Given the description of an element on the screen output the (x, y) to click on. 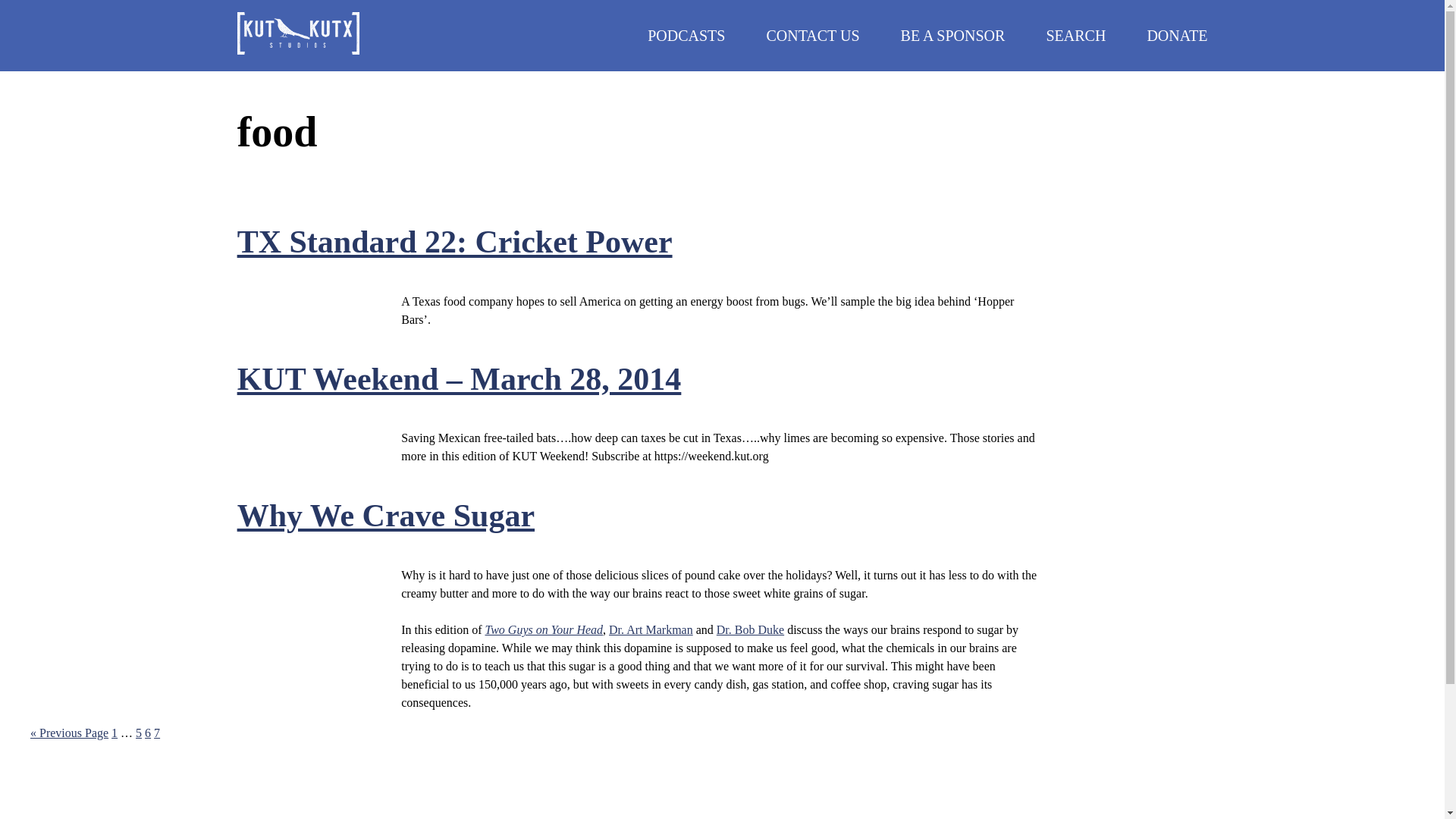
SEARCH (147, 732)
DONATE (1075, 35)
Skip to primary navigation (1177, 35)
Dr. Art Markman (138, 732)
Dr. Bob Duke (650, 629)
Two Guys on Your Head (385, 515)
TX Standard 22: Cricket Power (750, 629)
PODCASTS (543, 629)
BE A SPONSOR (454, 241)
CONTACT US (686, 35)
